Given the description of an element on the screen output the (x, y) to click on. 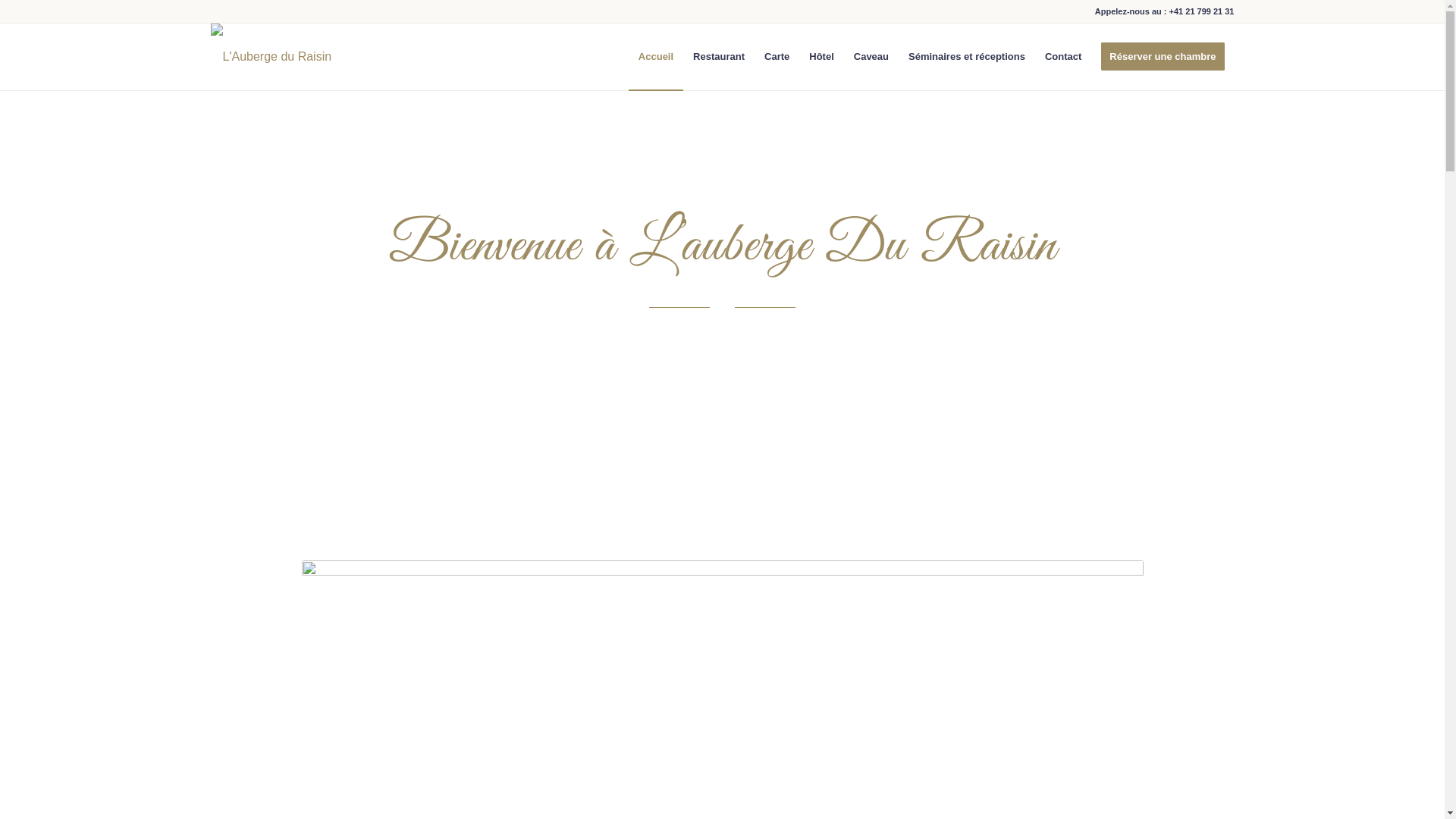
Carte Element type: text (776, 56)
Caveau Element type: text (871, 56)
Accueil Element type: text (655, 56)
+41 21 799 21 31 Element type: text (1201, 10)
logo Element type: hover (271, 43)
Restaurant Element type: text (718, 56)
Contact Element type: text (1063, 56)
